Given the description of an element on the screen output the (x, y) to click on. 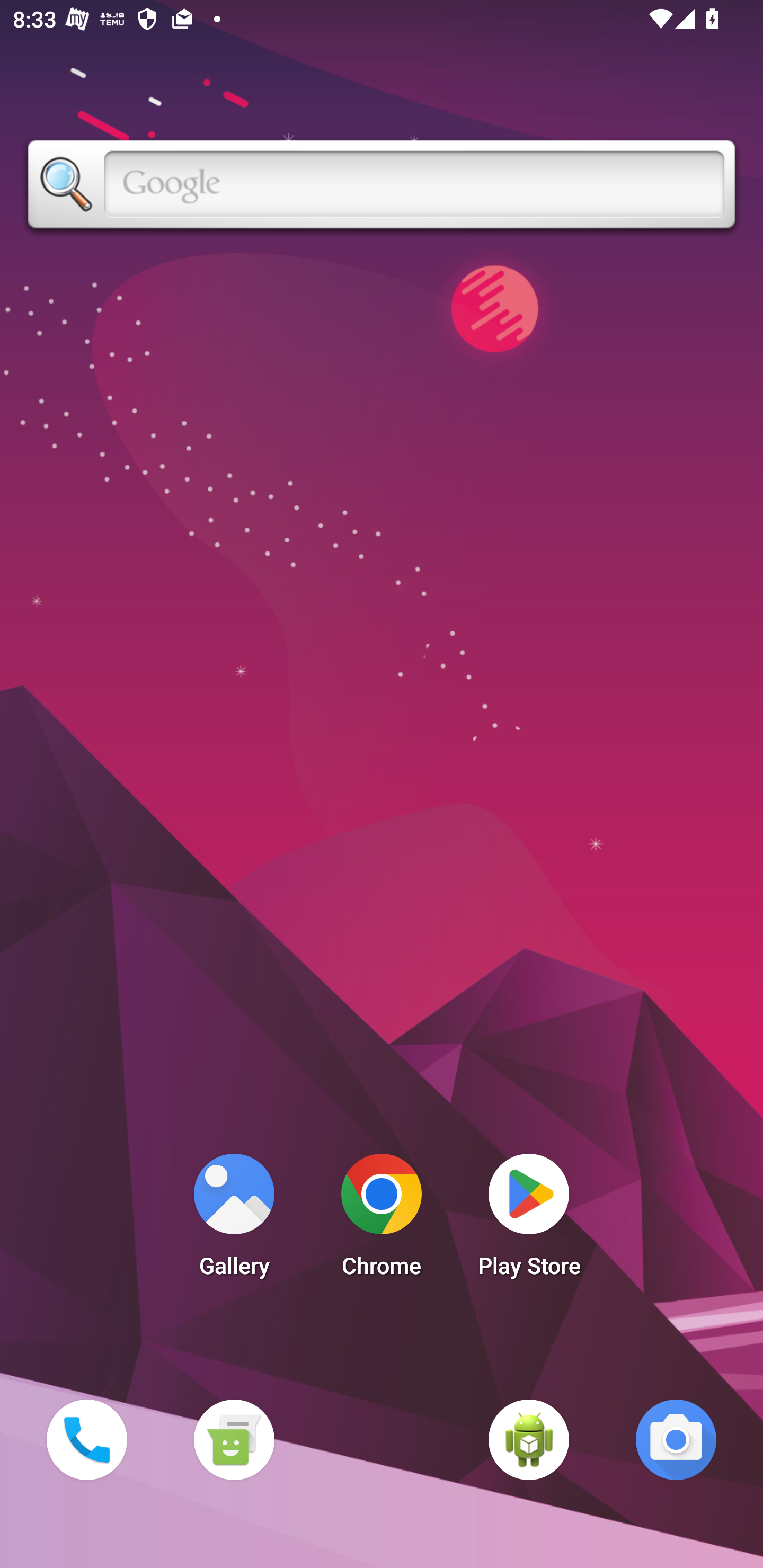
Gallery (233, 1220)
Chrome (381, 1220)
Play Store (528, 1220)
Phone (86, 1439)
Messaging (233, 1439)
WebView Browser Tester (528, 1439)
Camera (676, 1439)
